Given the description of an element on the screen output the (x, y) to click on. 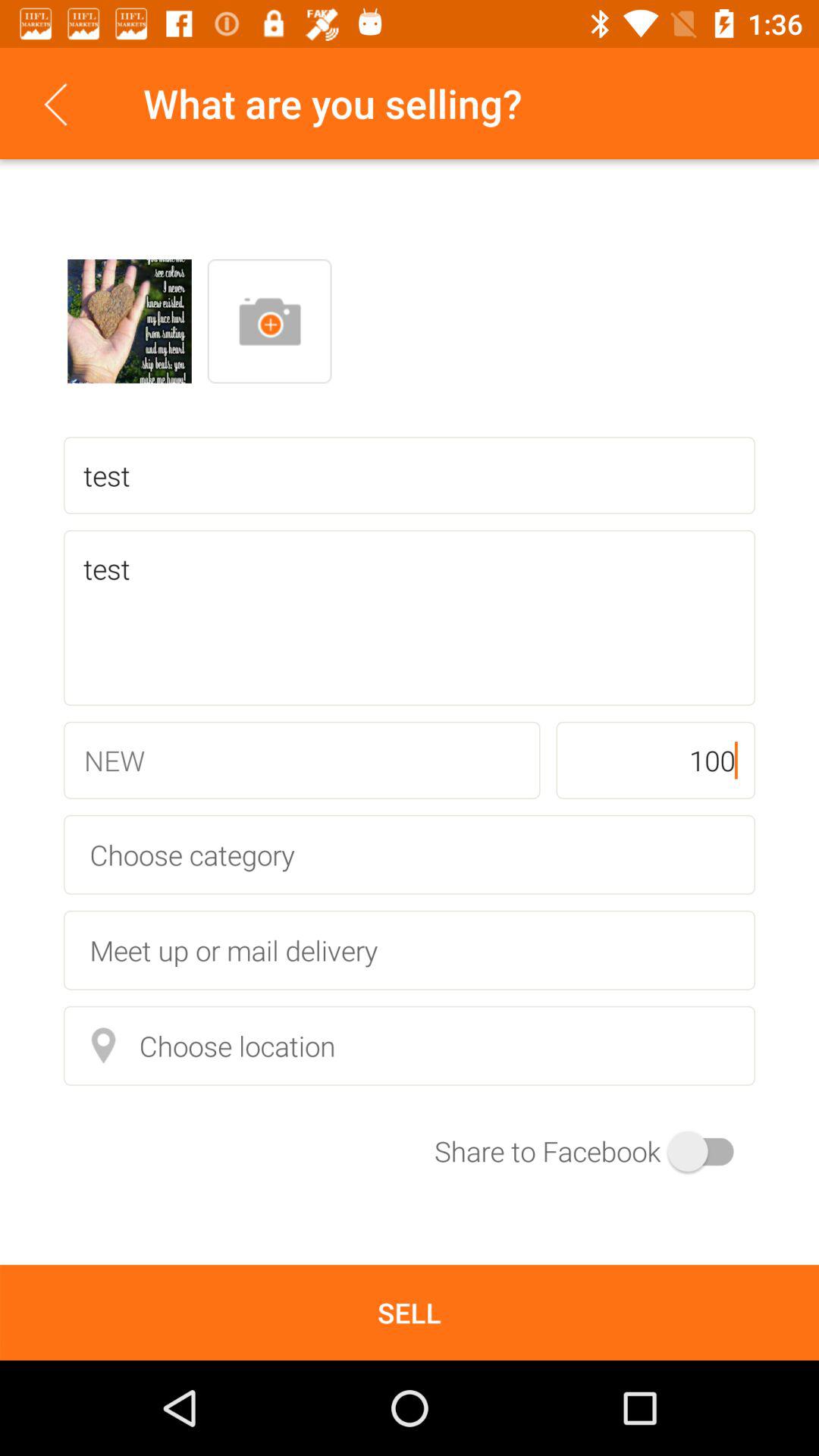
select icon on the right (655, 760)
